Given the description of an element on the screen output the (x, y) to click on. 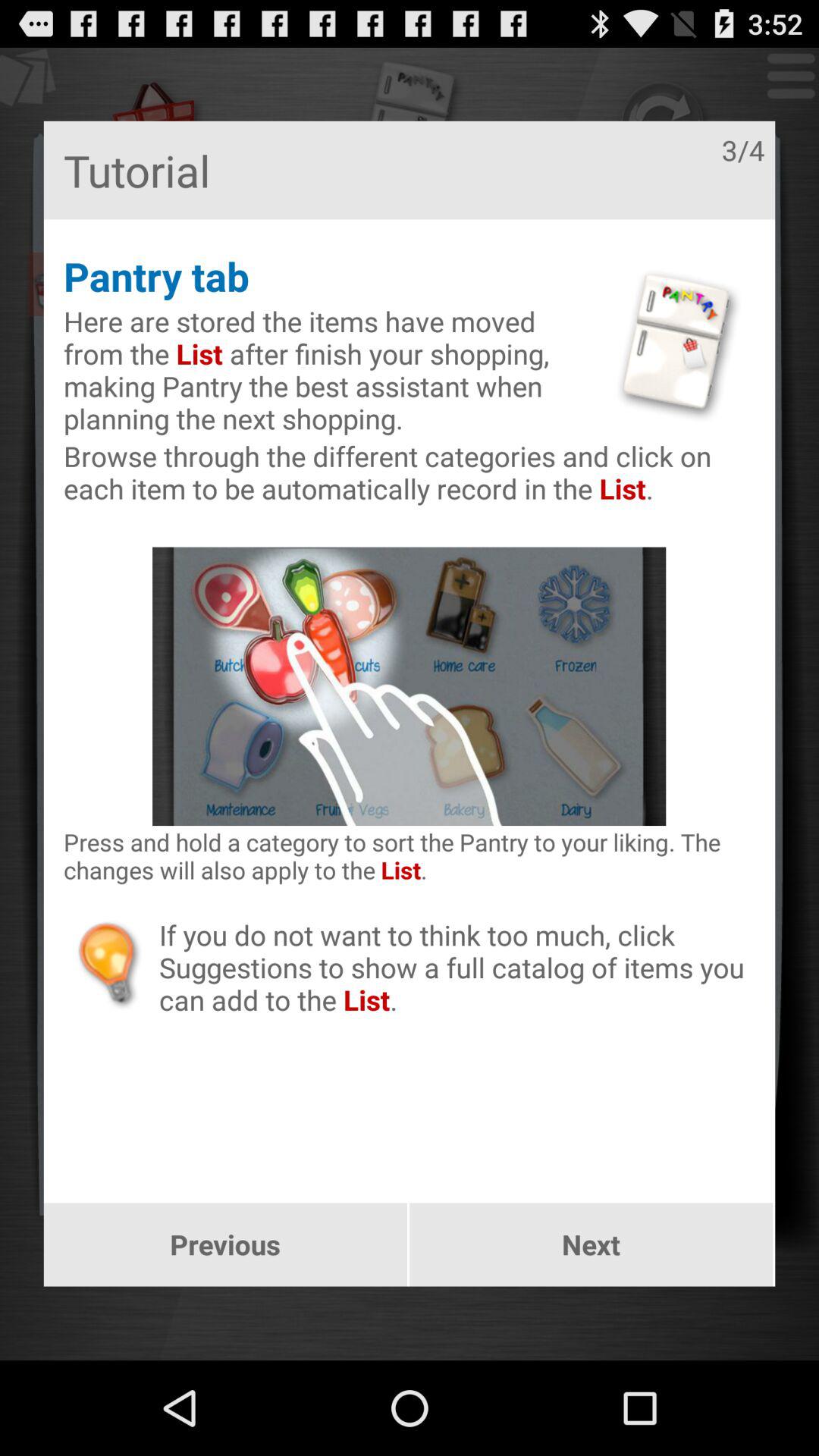
click on the bulb image (110, 963)
click on the image at center of the page (408, 686)
